Given the description of an element on the screen output the (x, y) to click on. 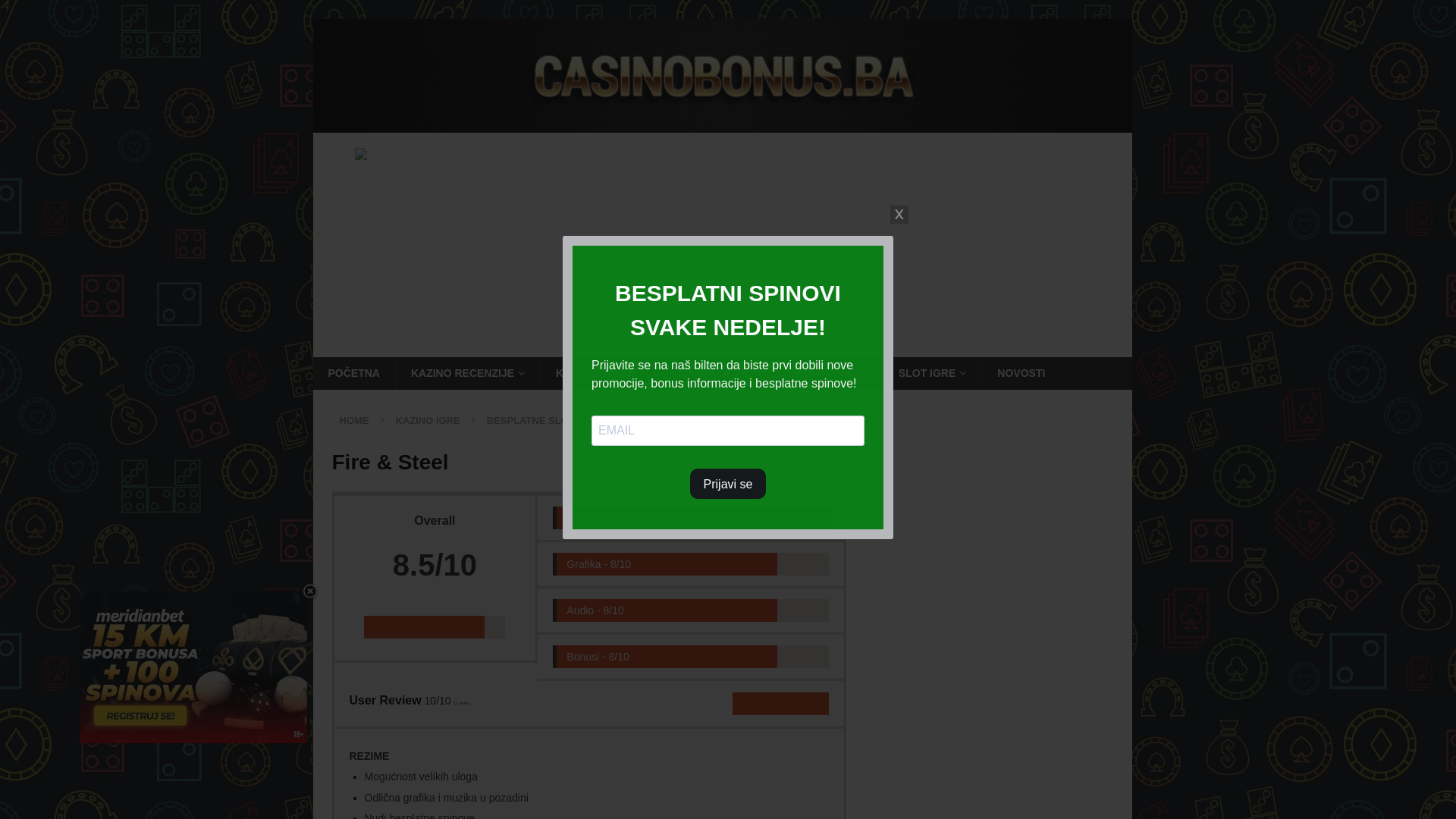
SLOT IGRE Element type: text (931, 373)
KAZINO IGRE Element type: text (427, 420)
KAZINO RECENZIJE Element type: text (467, 373)
STRATEGIJE Element type: text (828, 373)
NOVOSTI Element type: text (1020, 373)
HOME Element type: text (354, 420)
BESPLATNE SLOT IGRE I KAZINO IGRE Element type: text (580, 420)
Online Casino Bonus Element type: hover (721, 124)
KAZINO IGRE Element type: text (719, 373)
KAZINO BONUS Element type: text (601, 373)
